Given the description of an element on the screen output the (x, y) to click on. 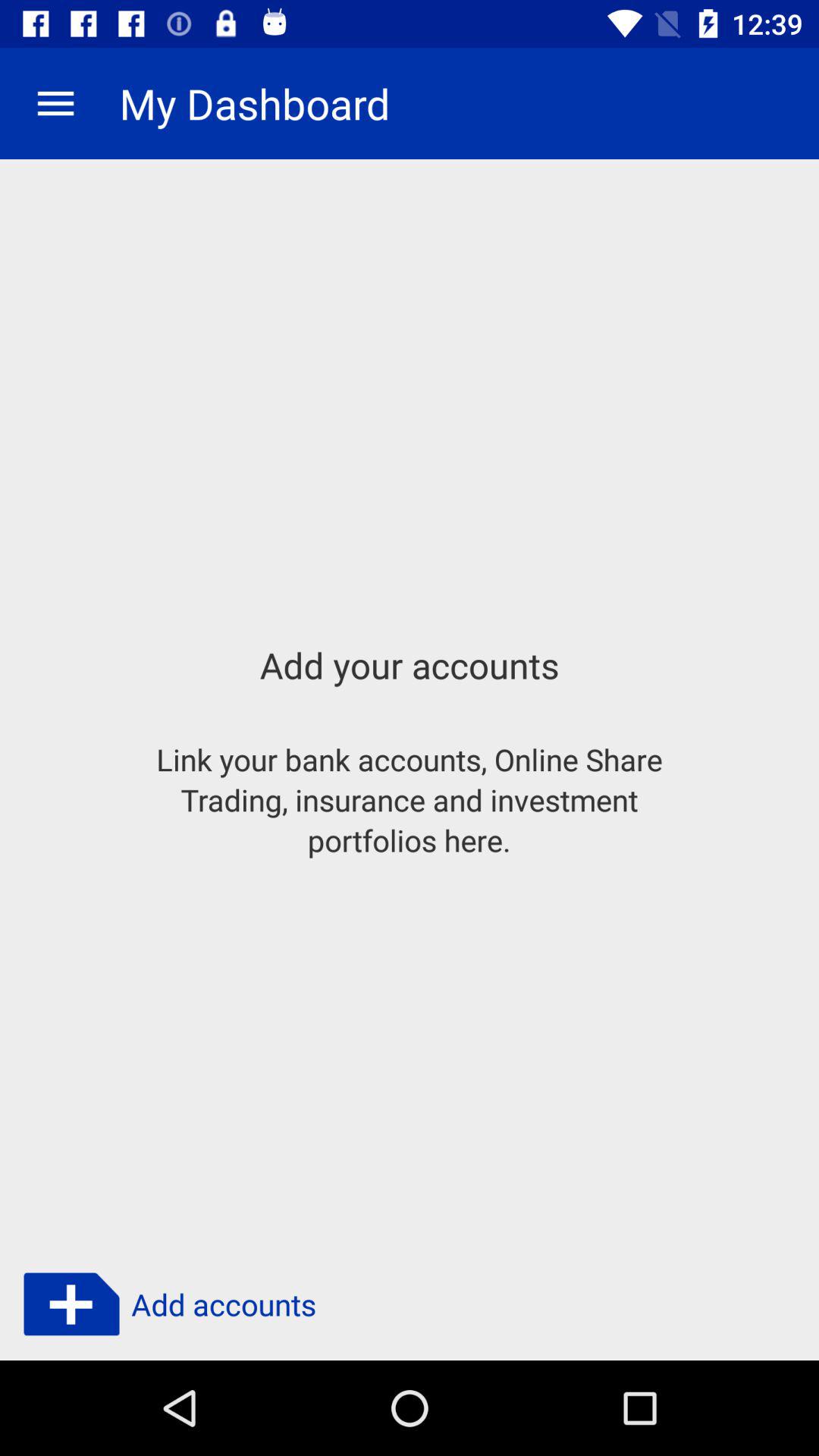
add an account (71, 1304)
